Given the description of an element on the screen output the (x, y) to click on. 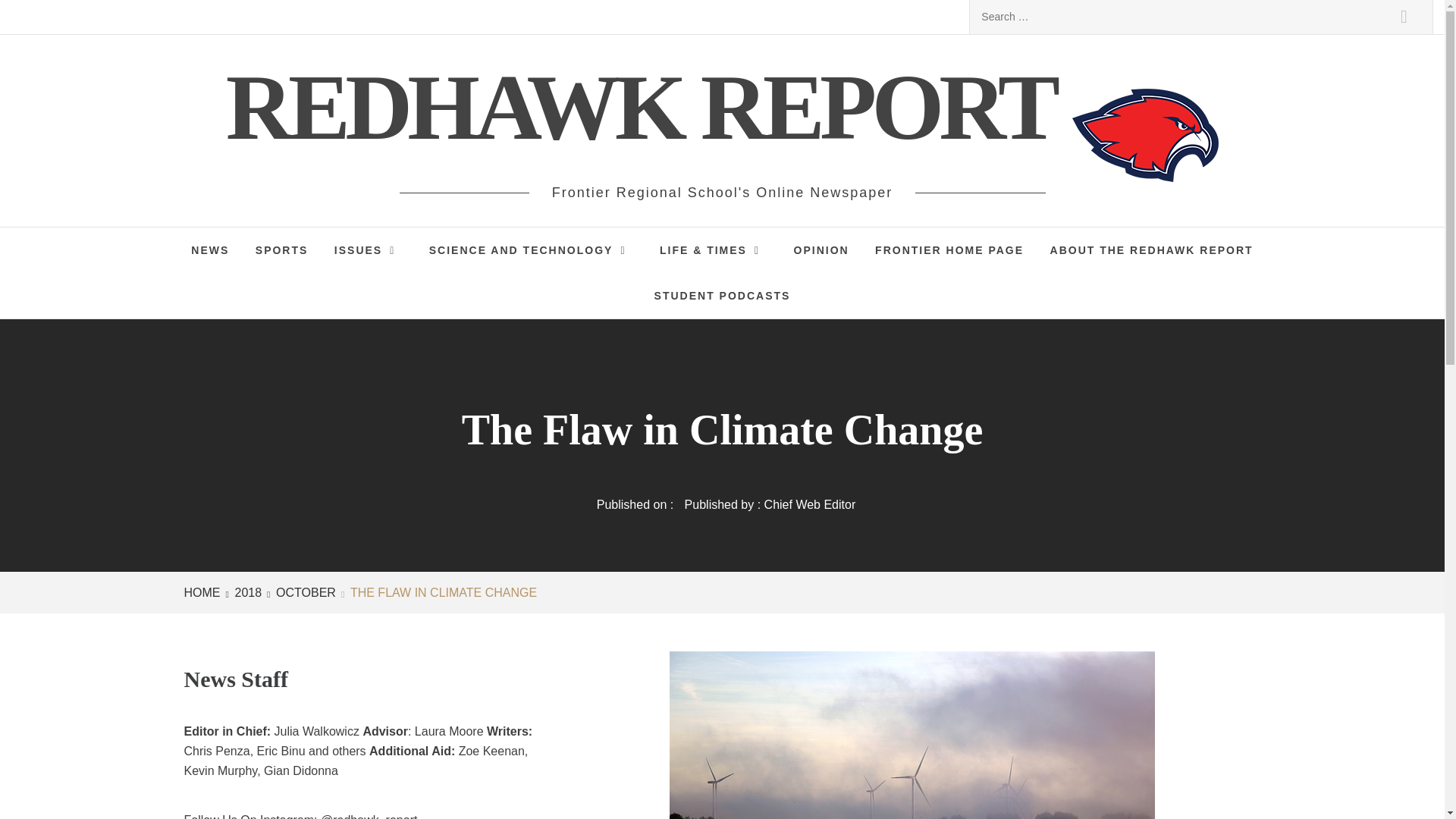
SCIENCE AND TECHNOLOGY (531, 249)
HOME (204, 592)
ISSUES (368, 249)
OCTOBER (303, 592)
NEWS (209, 249)
OPINION (821, 249)
SPORTS (282, 249)
Search (1403, 17)
ABOUT THE REDHAWK REPORT (1152, 249)
Search (1403, 17)
FRONTIER HOME PAGE (949, 249)
Search (1403, 17)
Chief Web Editor (810, 504)
STUDENT PODCASTS (722, 295)
2018 (246, 592)
